Given the description of an element on the screen output the (x, y) to click on. 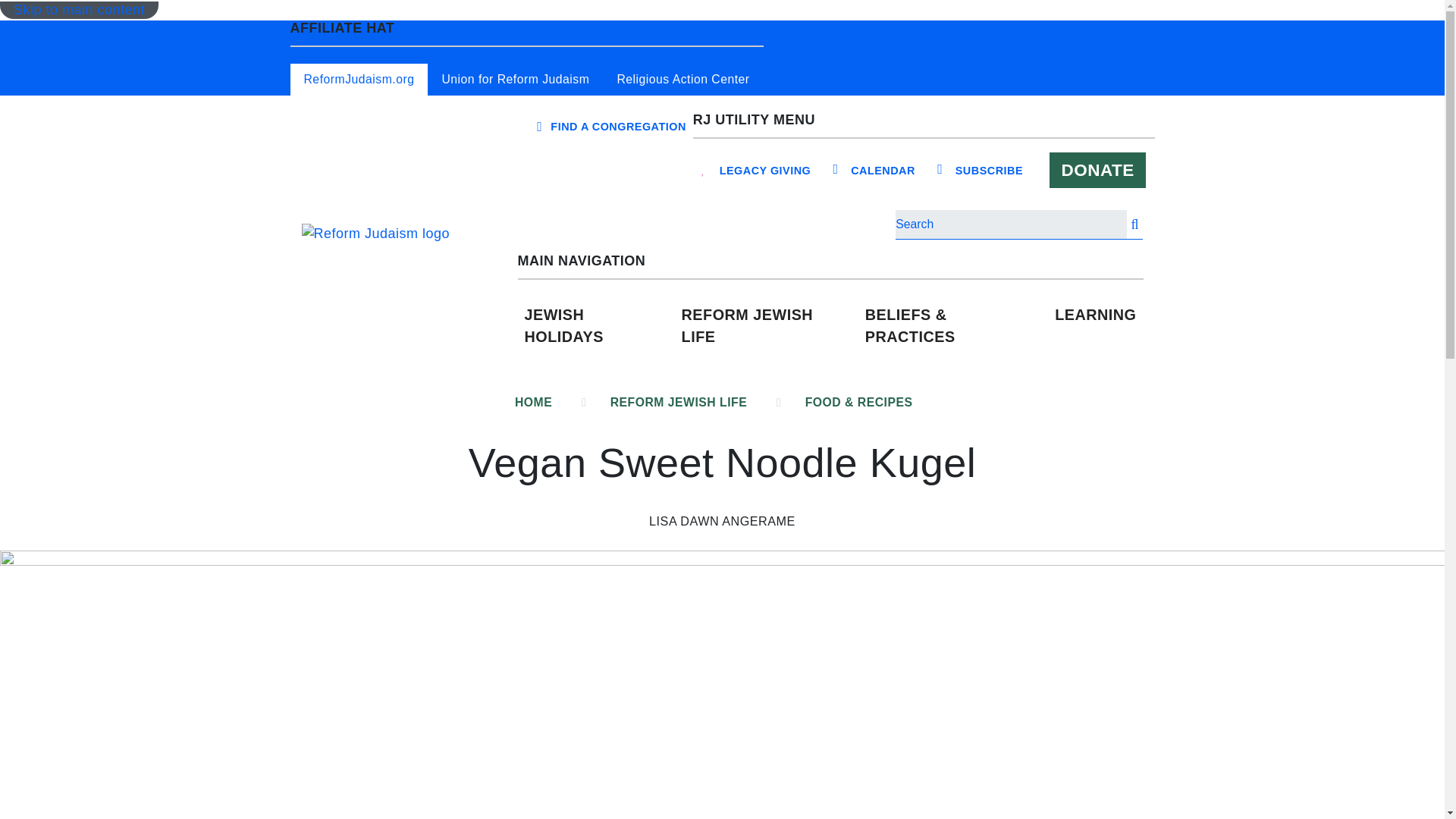
SUBSCRIBE (989, 171)
FIND A CONGREGATION (617, 126)
DONATE (1097, 170)
LEGACY GIVING (765, 171)
JEWISH HOLIDAYS (595, 326)
Union for Reform Judaism (515, 79)
ReformJudaism.org (358, 79)
REFORM JEWISH LIFE (767, 326)
CALENDAR (882, 171)
Religious Action Center (682, 79)
Skip to main content (79, 9)
